Given the description of an element on the screen output the (x, y) to click on. 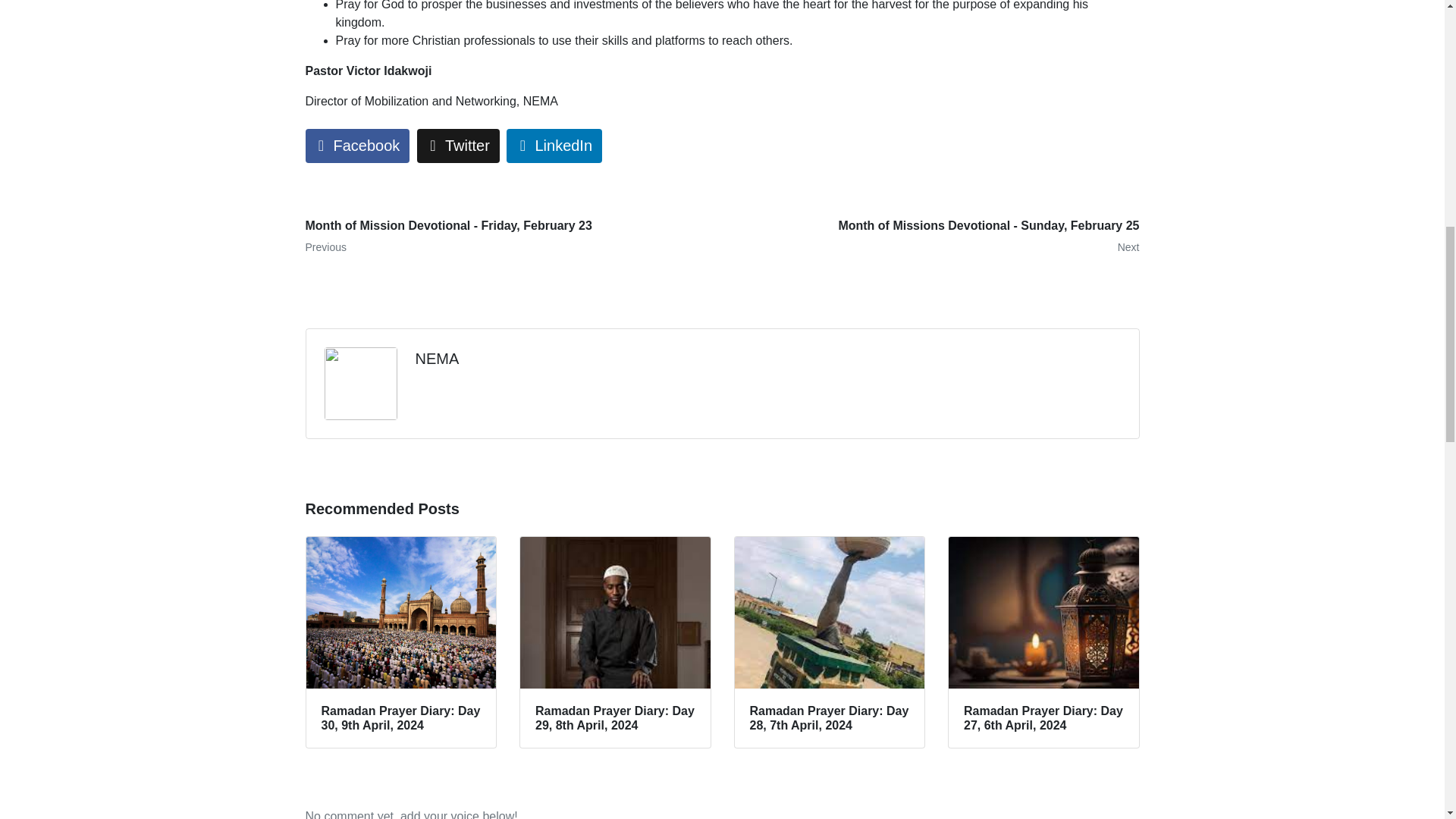
Month of Mission Devotional - Friday, February 23 (508, 236)
Month of Missions Devotional - Sunday, February 25 (936, 236)
